Given the description of an element on the screen output the (x, y) to click on. 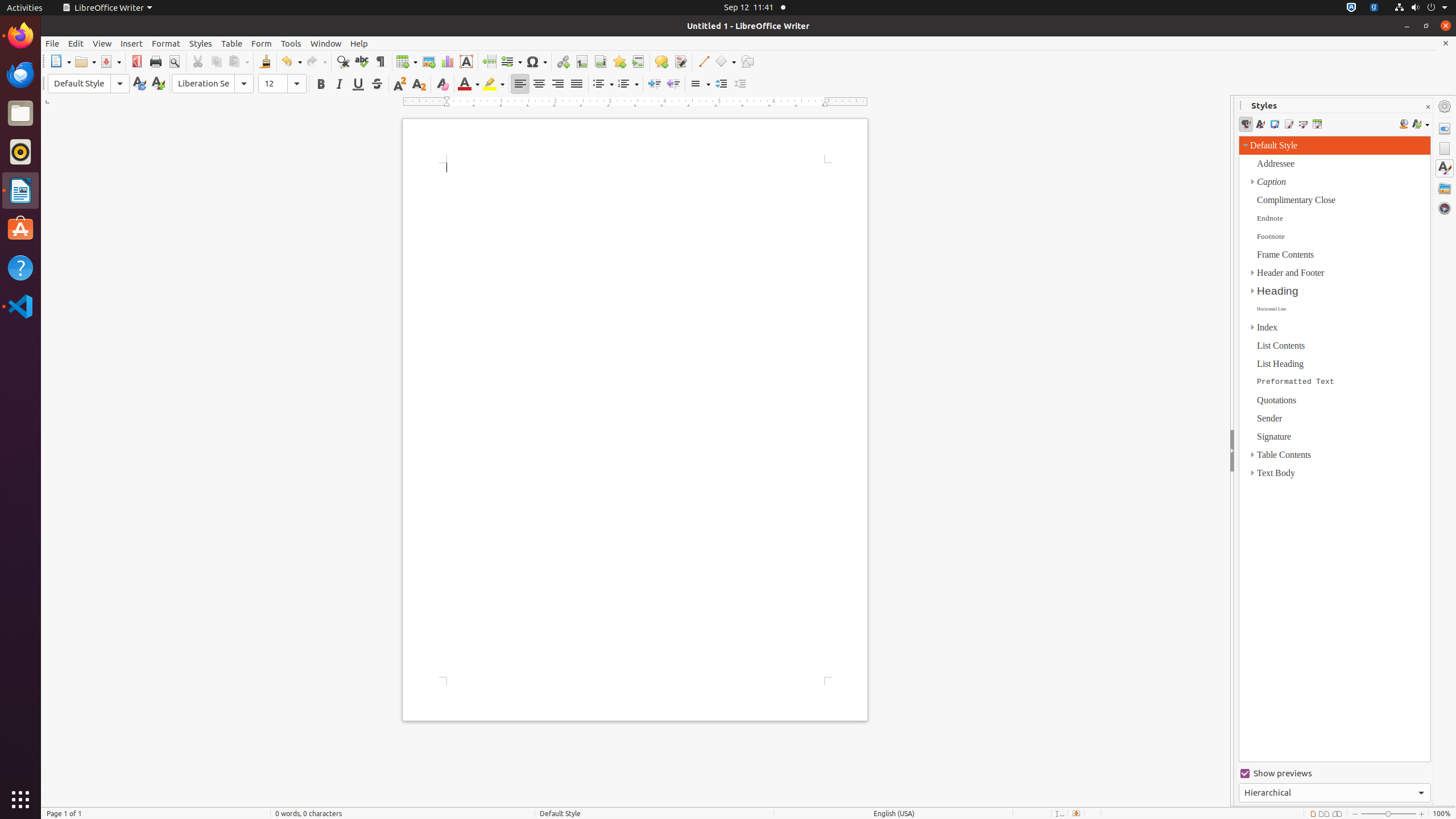
Font Color Element type: push-button (468, 83)
Update Element type: push-button (138, 83)
Spelling Element type: push-button (361, 61)
Bold Element type: toggle-button (320, 83)
Visual Studio Code Element type: push-button (20, 306)
